Given the description of an element on the screen output the (x, y) to click on. 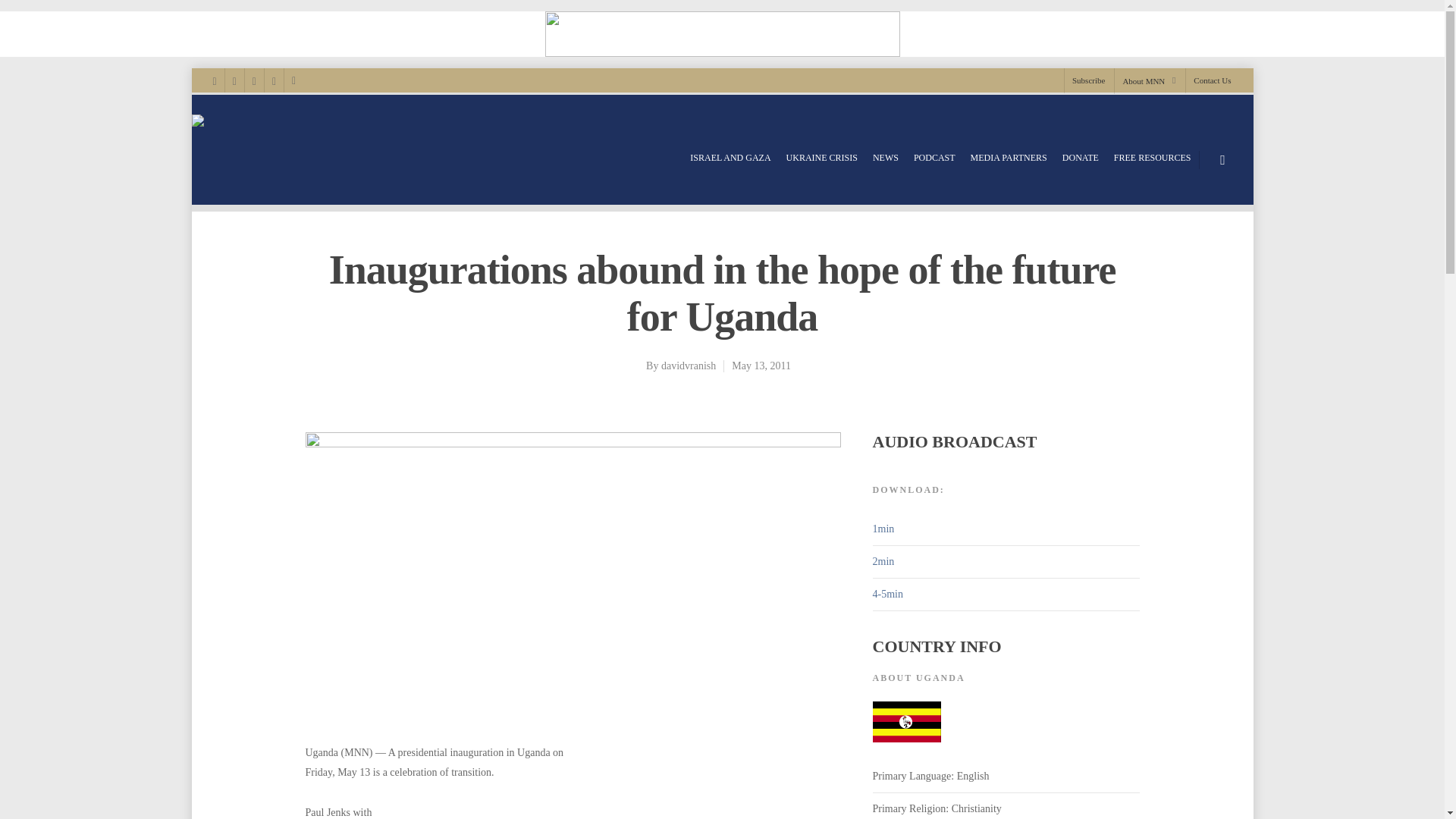
Posts by davidvranish (688, 365)
Subscribe (1088, 80)
ISRAEL AND GAZA (730, 157)
About MNN (1148, 80)
davidvranish (688, 365)
Contact Us (1207, 80)
